Given the description of an element on the screen output the (x, y) to click on. 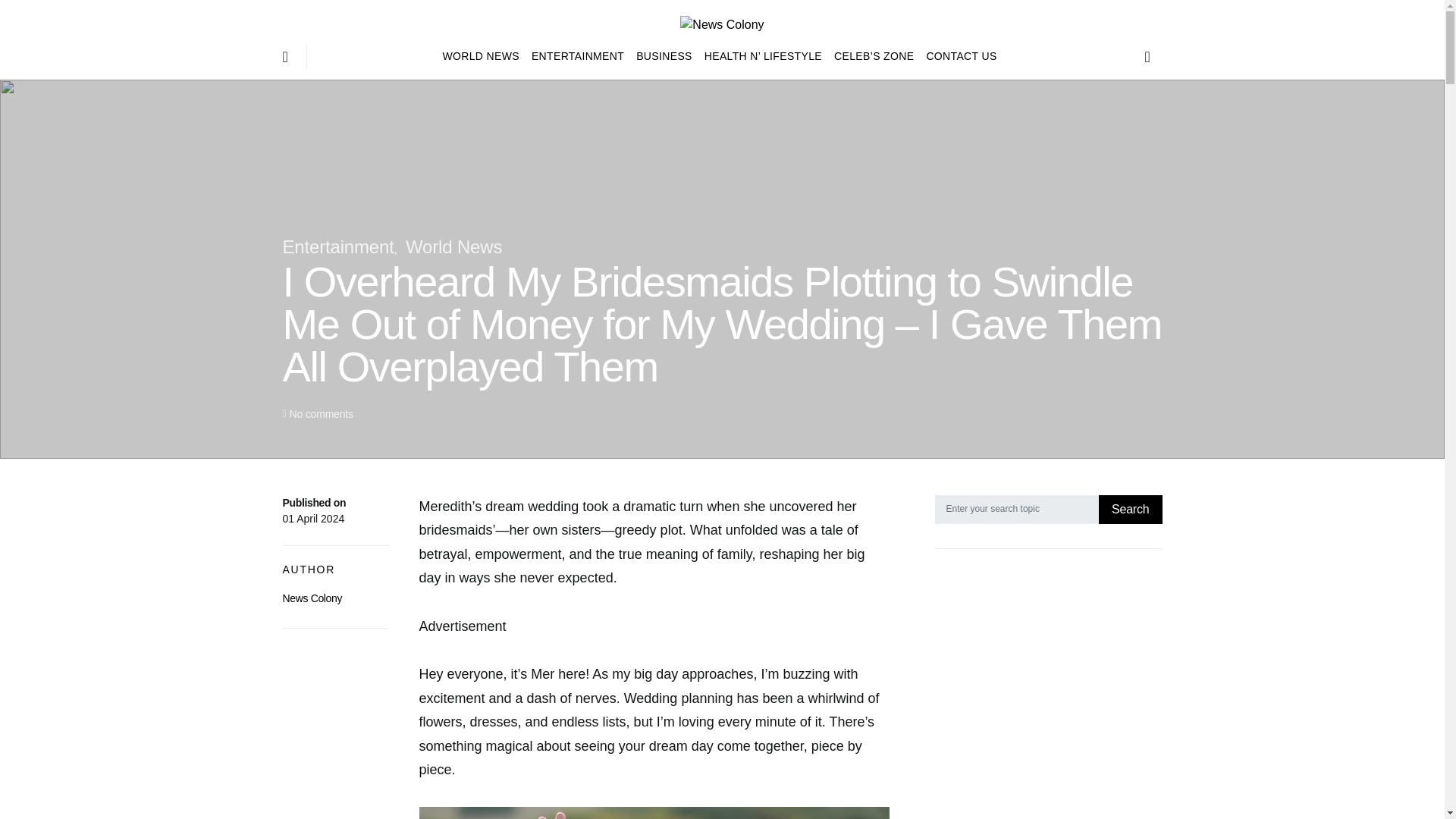
No comments (320, 414)
Entertainment (337, 246)
Advertisement (1047, 696)
BUSINESS (664, 56)
World News (454, 246)
CONTACT US (957, 56)
WORLD NEWS (483, 56)
News Colony (312, 598)
ENTERTAINMENT (577, 56)
